Given the description of an element on the screen output the (x, y) to click on. 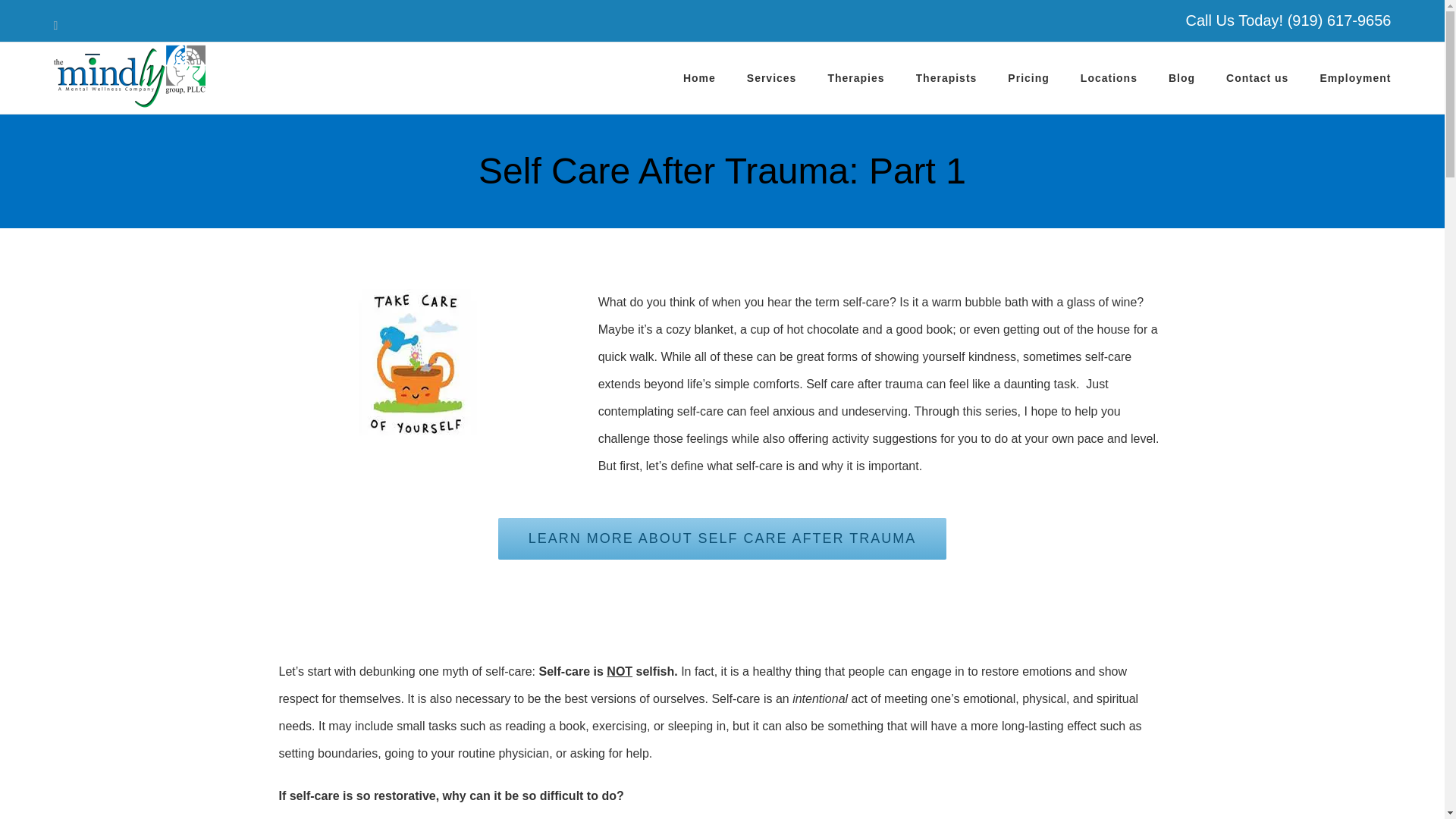
self care (420, 364)
